Given the description of an element on the screen output the (x, y) to click on. 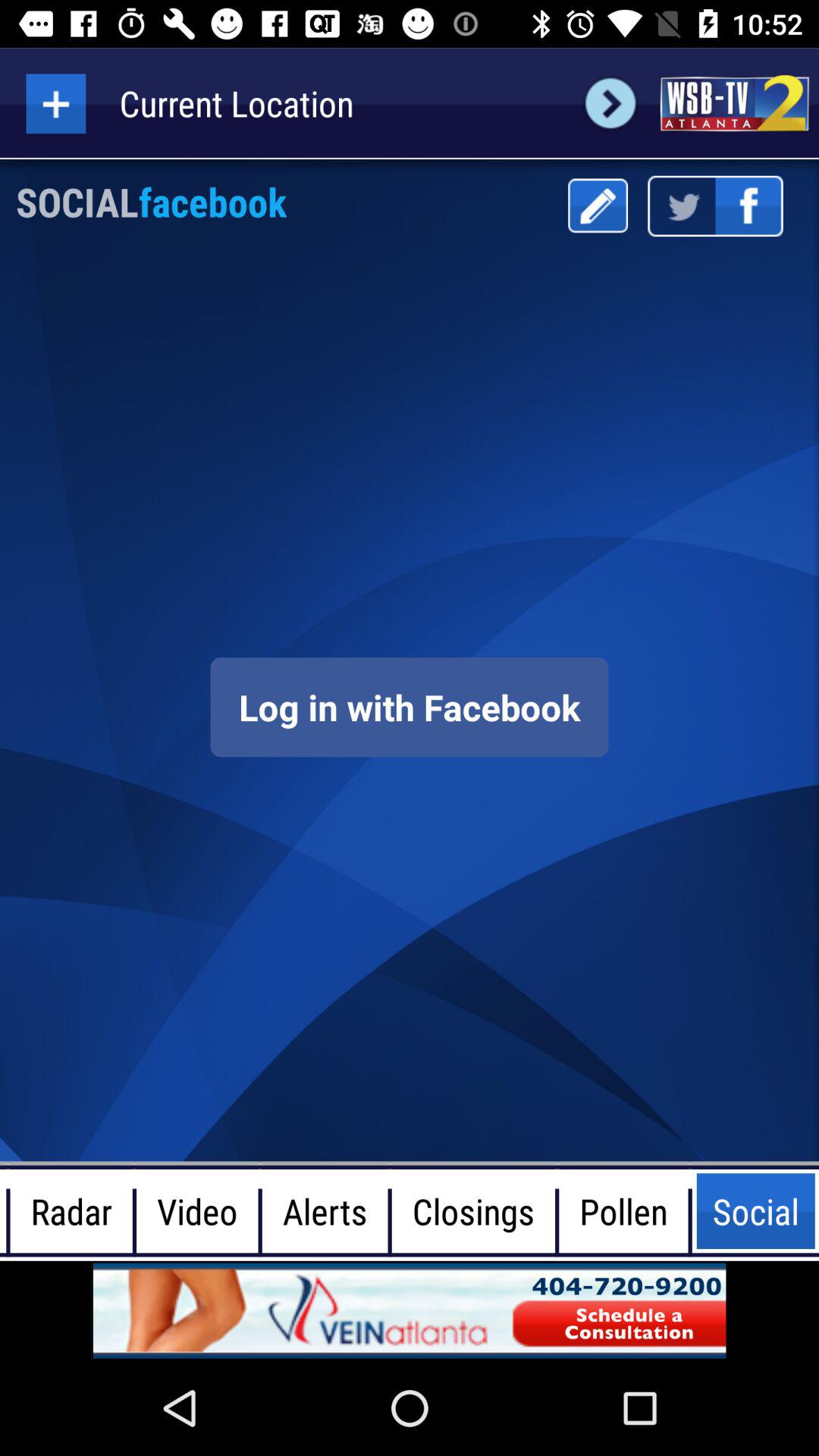
advertisement link (734, 103)
